Given the description of an element on the screen output the (x, y) to click on. 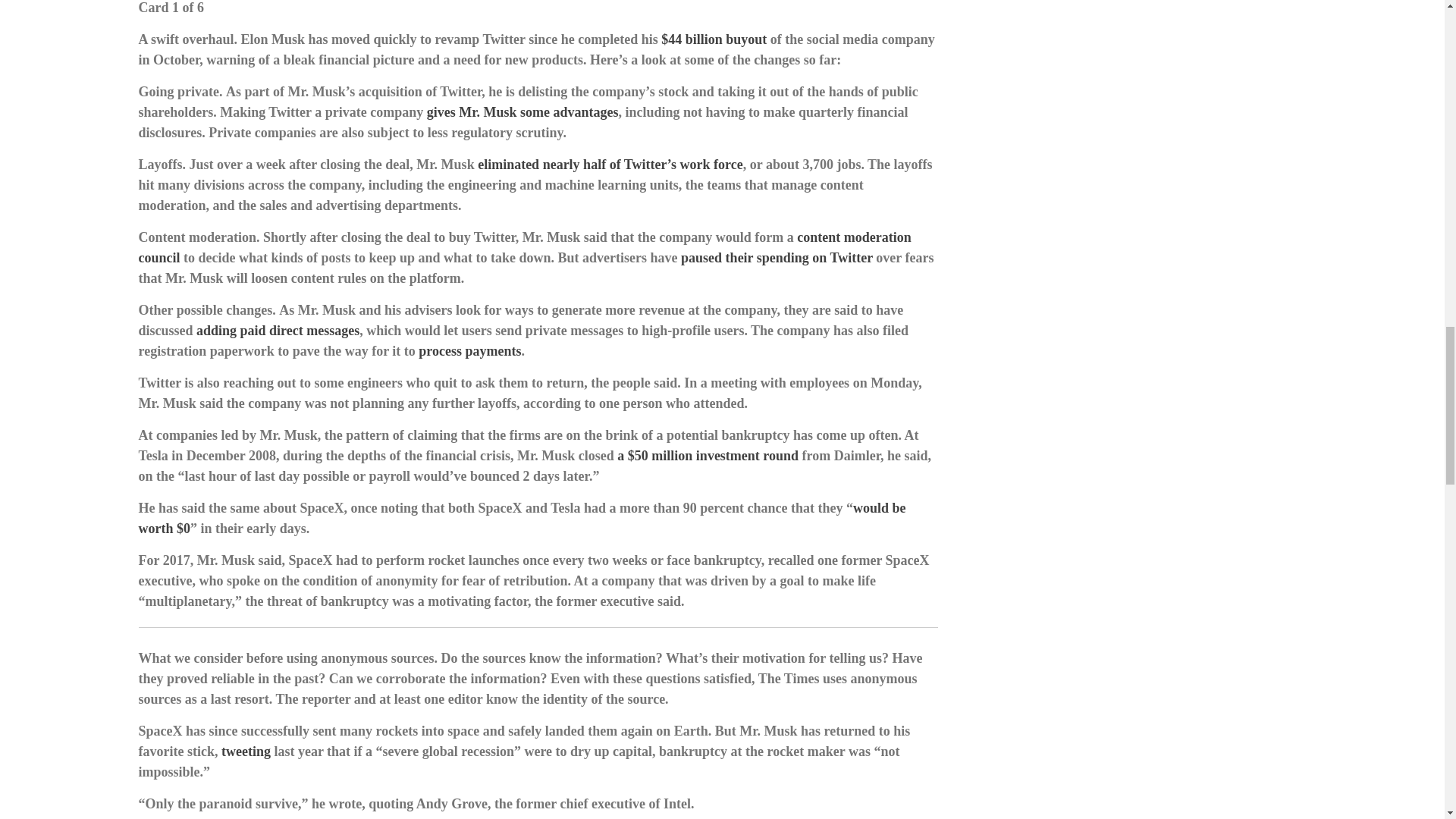
gives Mr. (454, 111)
Musk some (516, 111)
content moderation council (524, 247)
 advantages (584, 111)
work force (710, 164)
